Given the description of an element on the screen output the (x, y) to click on. 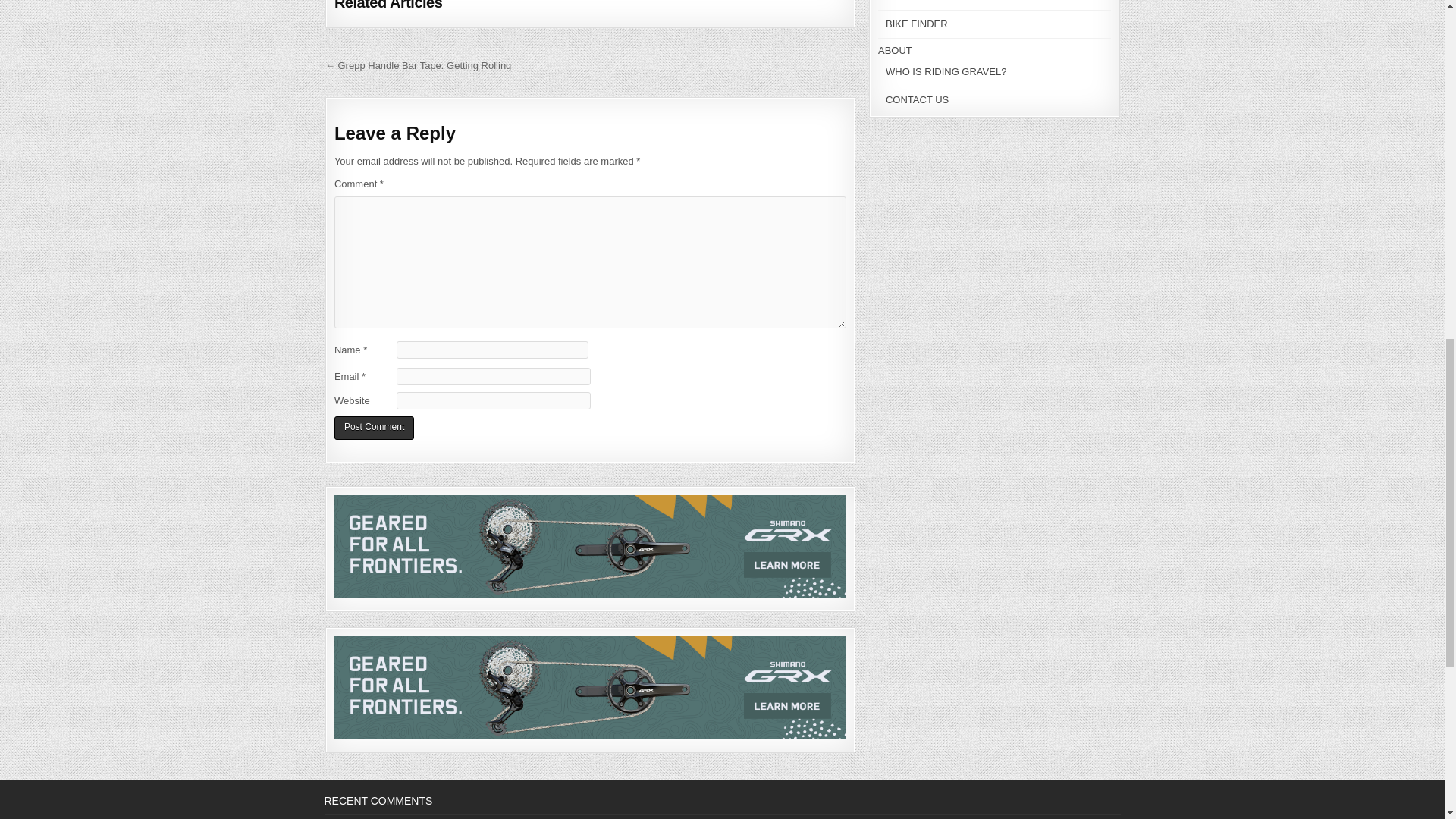
Post Comment (373, 427)
Post Comment (373, 427)
